Given the description of an element on the screen output the (x, y) to click on. 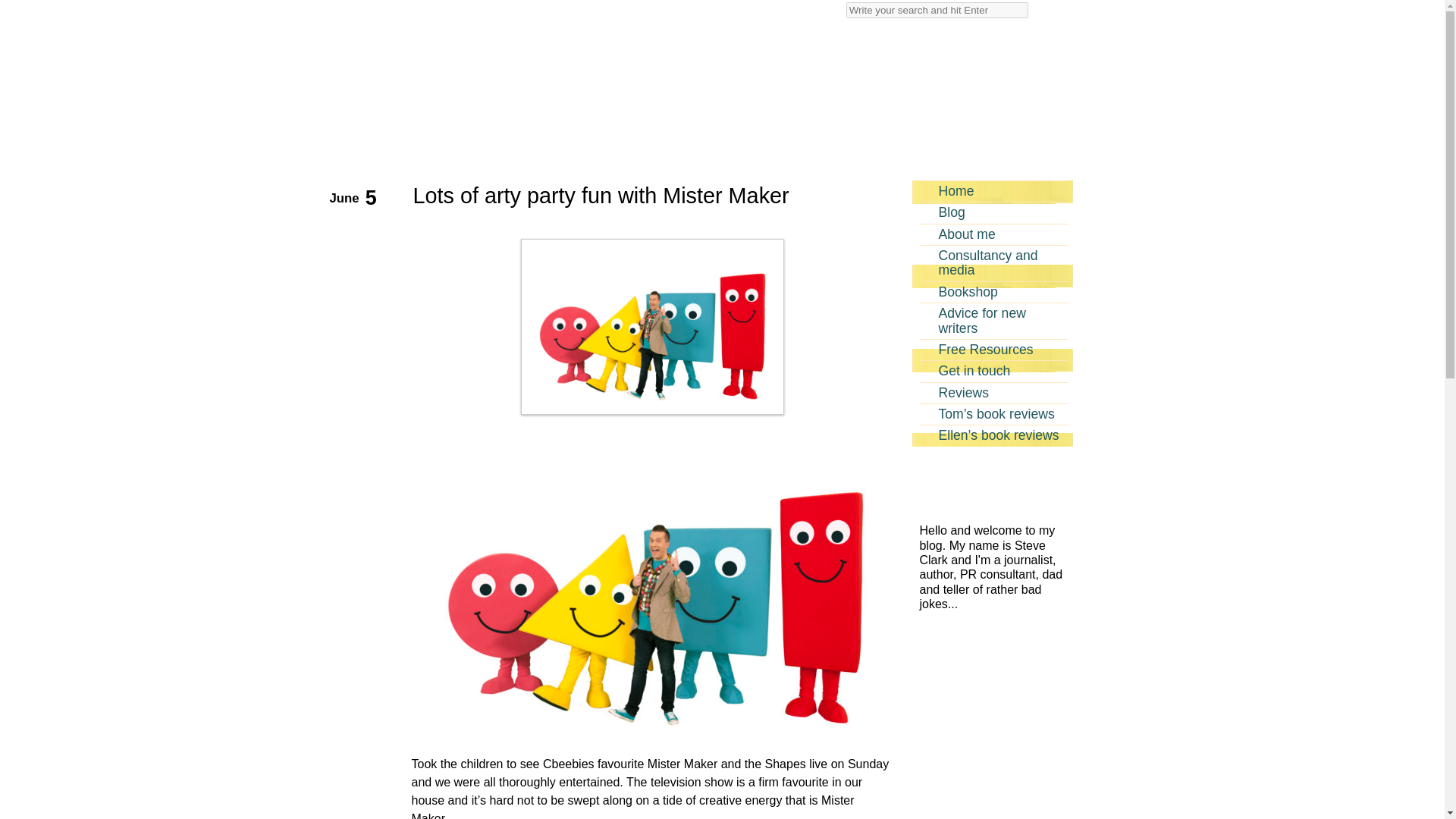
Get in touch (992, 370)
Home (992, 190)
Search (21, 7)
Free Resources (992, 349)
Bookshop (992, 291)
Steve Clark (587, 66)
About me (992, 233)
Consultancy and media (992, 262)
Advice for new writers (992, 320)
Search (936, 10)
Blog (992, 211)
Reviews (992, 392)
